Given the description of an element on the screen output the (x, y) to click on. 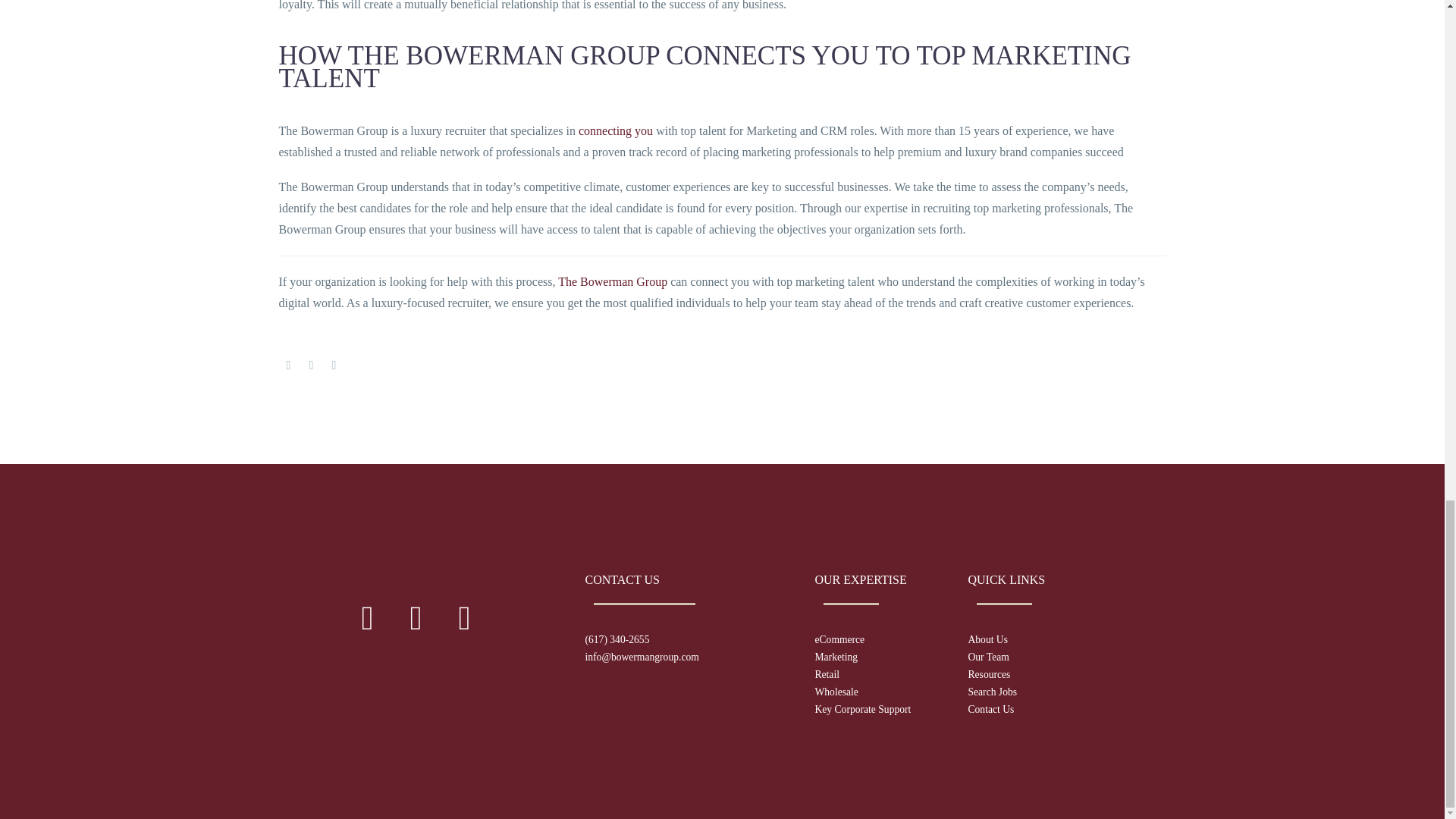
The Bowerman Group (611, 281)
Contact Us (990, 708)
Resources (989, 674)
Our Team (988, 656)
Marketing (835, 656)
Retail (825, 674)
connecting you (615, 130)
Wholesale (835, 691)
Key Corporate Support (862, 708)
Twitter (310, 365)
Facebook (288, 365)
Search Jobs (992, 691)
LinkedIn (333, 365)
eCommerce (838, 639)
About Us (987, 639)
